Given the description of an element on the screen output the (x, y) to click on. 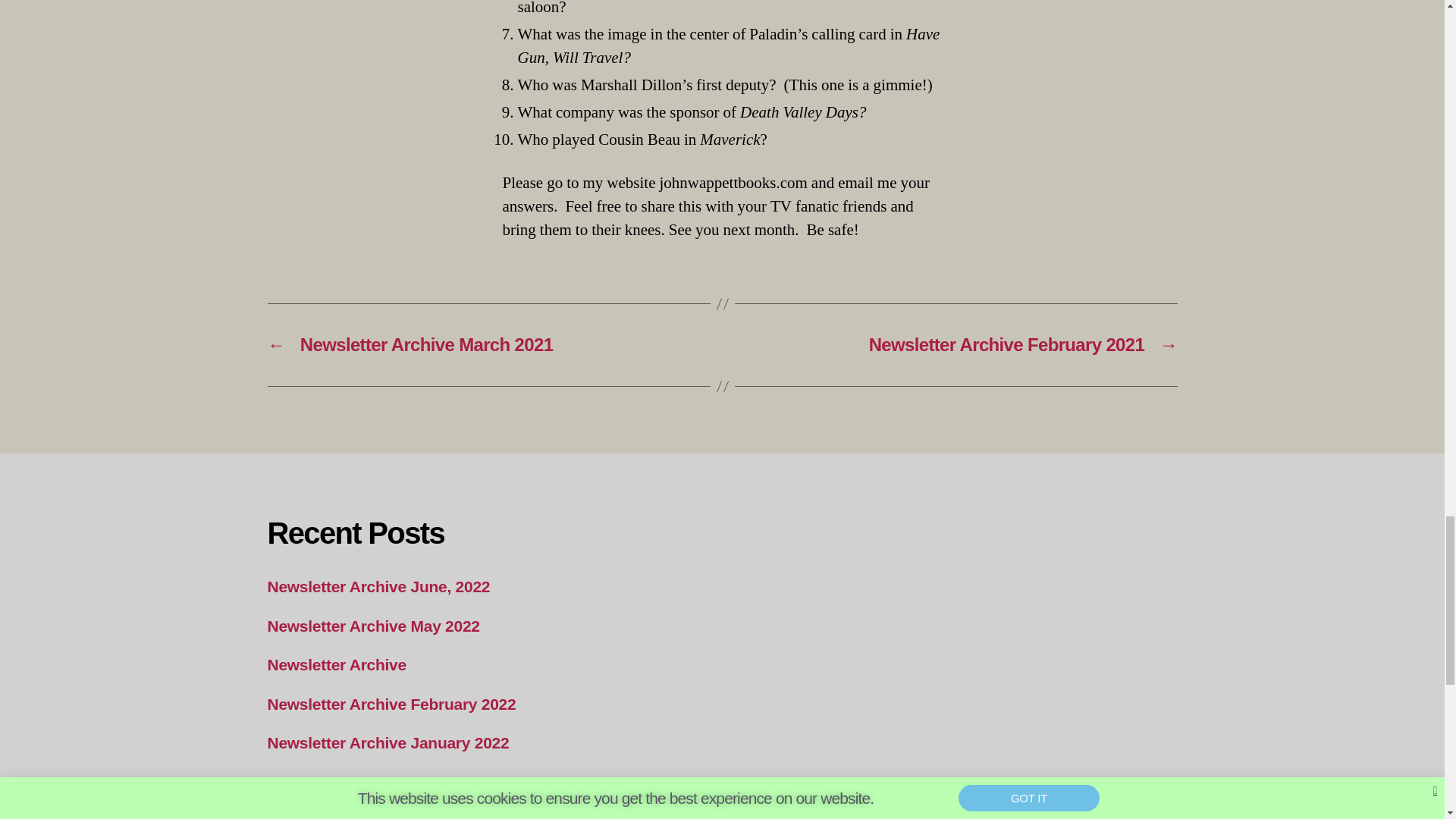
Newsletter Archive May 2022 (372, 625)
Newsletter Archive (336, 664)
Newsletter Archive February 2022 (390, 703)
Newsletter Archive January 2022 (387, 742)
Newsletter Archive June, 2022 (377, 586)
